Given the description of an element on the screen output the (x, y) to click on. 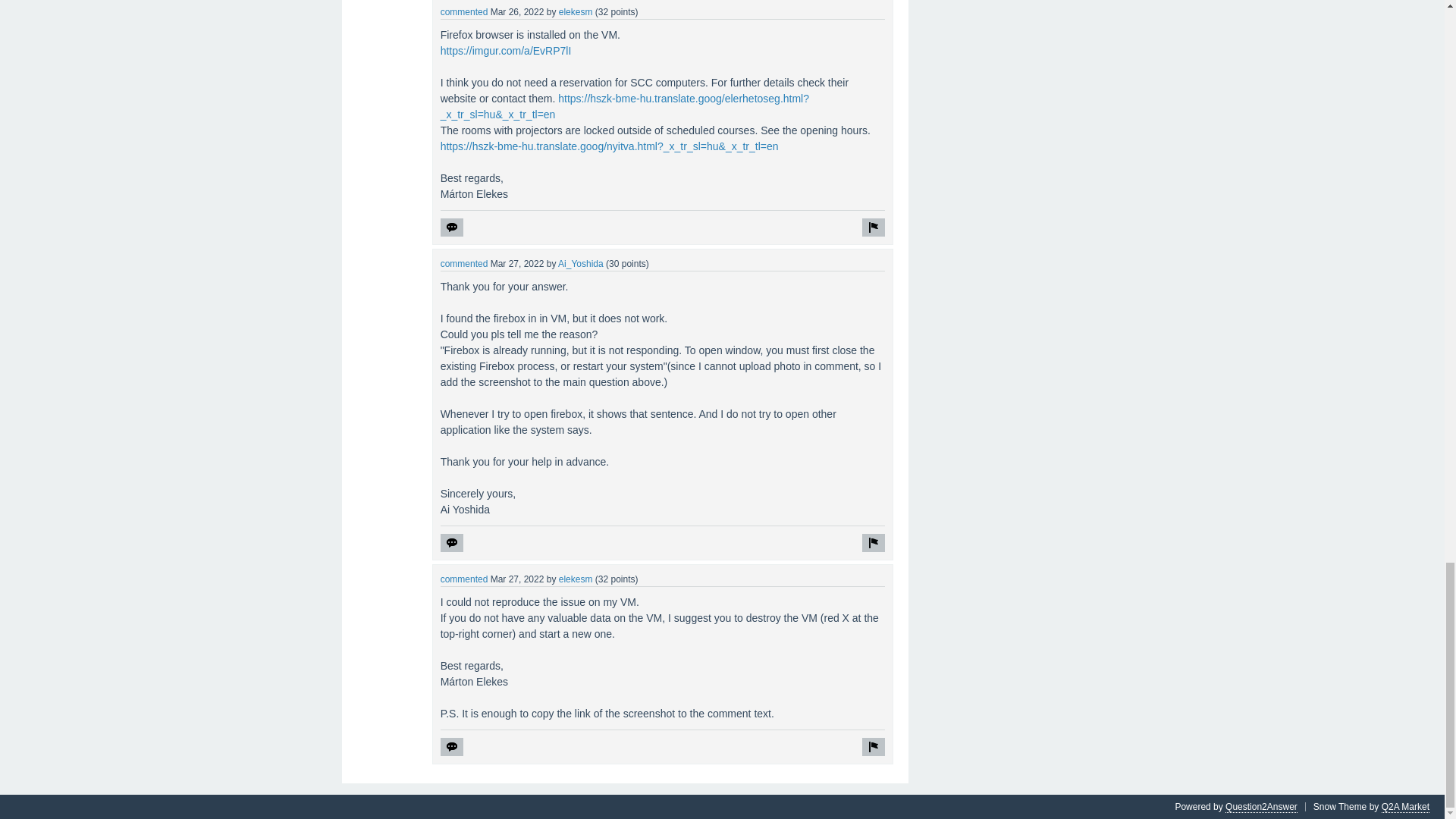
flag (873, 746)
reply (452, 227)
flag (873, 227)
flag (873, 542)
reply (452, 542)
reply (452, 746)
